Given the description of an element on the screen output the (x, y) to click on. 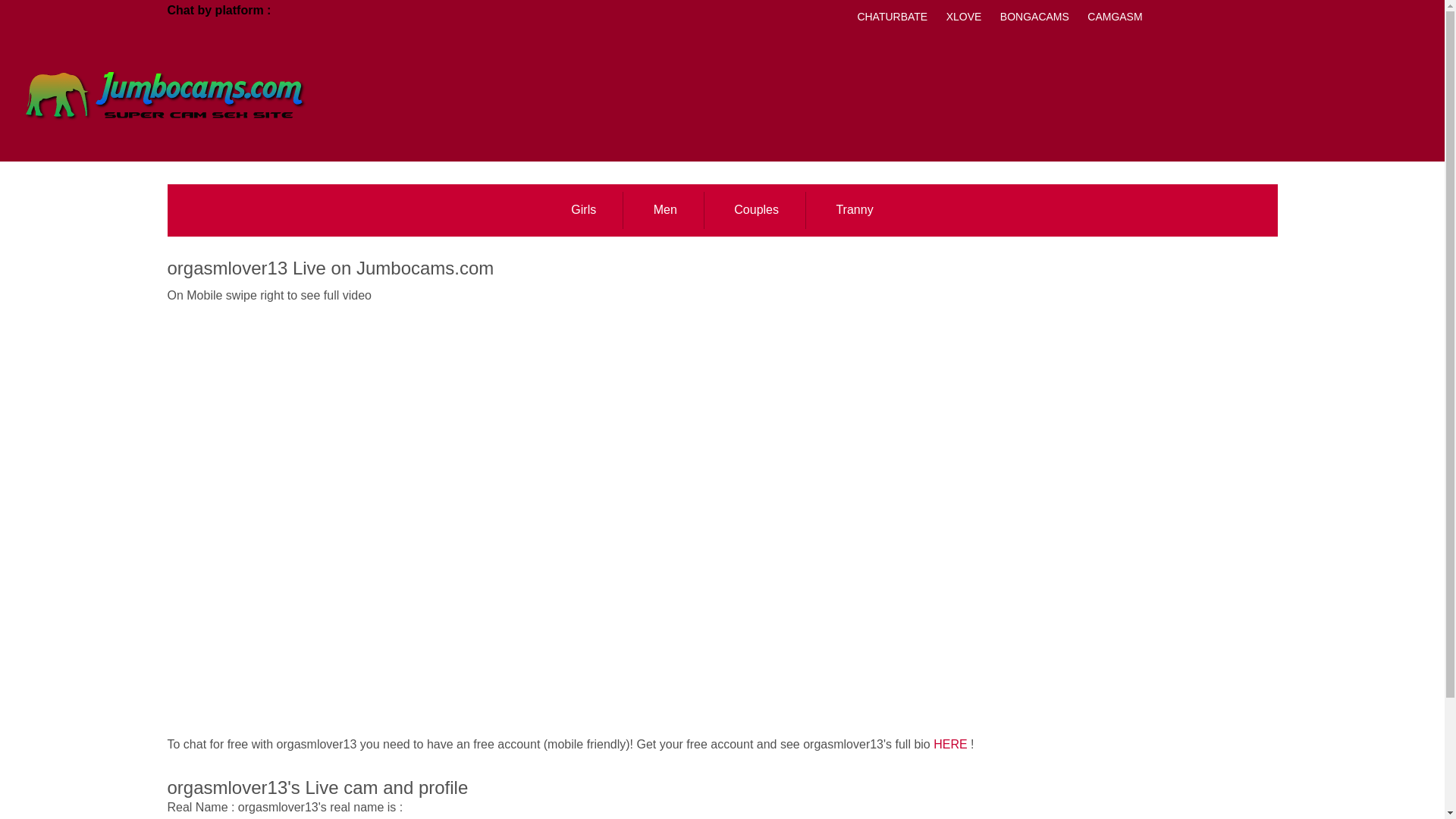
CAMGASM (1115, 17)
BONGACAMS (1034, 17)
Tranny (853, 210)
HERE (949, 744)
CHATURBATE (891, 17)
Girls (583, 210)
Men (665, 210)
Couples (756, 210)
XLOVE (964, 17)
